Given the description of an element on the screen output the (x, y) to click on. 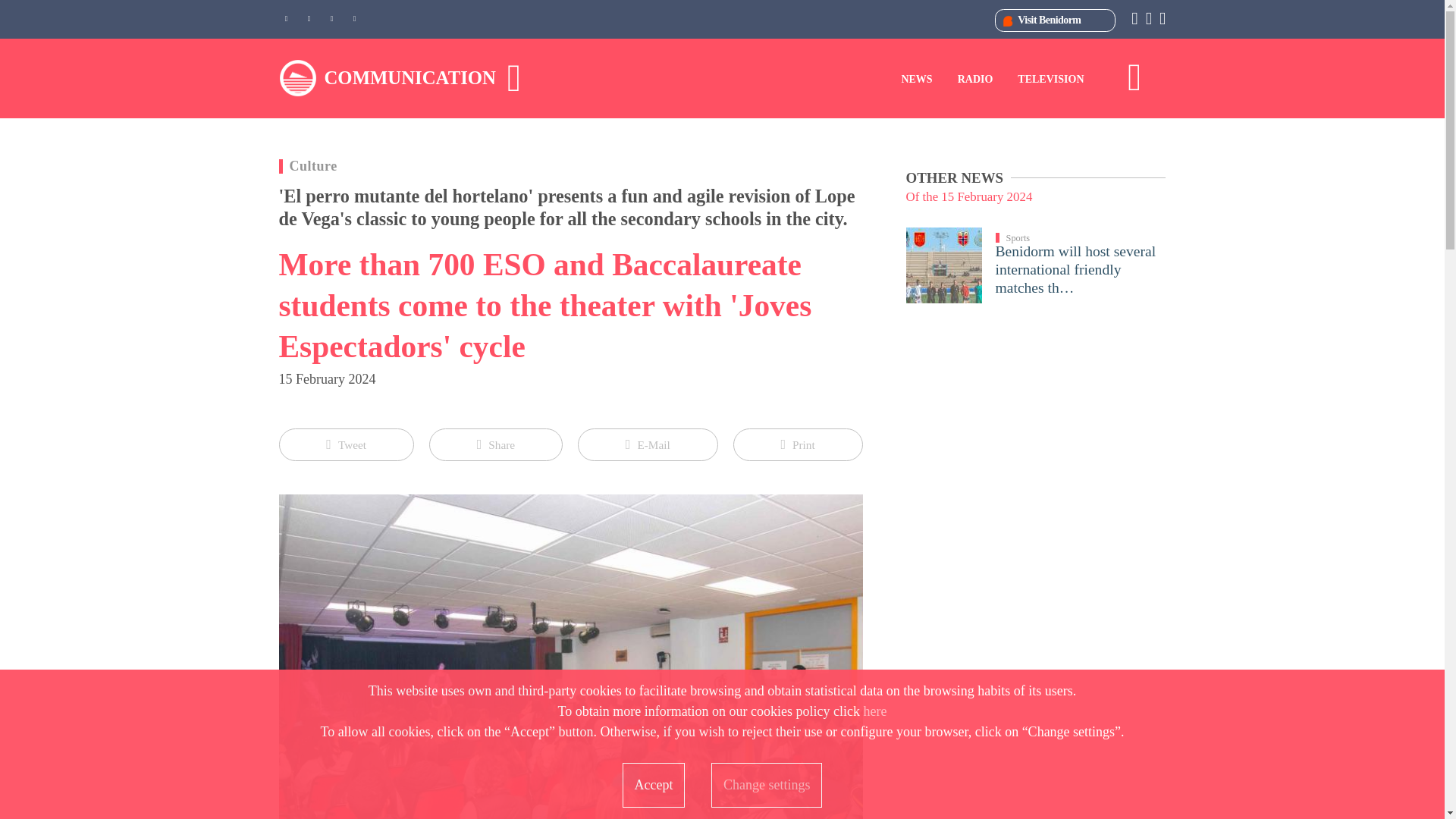
TELEVISION (1050, 78)
print (798, 444)
COMMUNICATION (410, 77)
NEWS (916, 78)
Share on Facebook (495, 444)
RADIO (975, 78)
Benidorm Turismo (1046, 19)
Home (298, 77)
Visit Benidorm (1046, 19)
Share on Twitter (346, 444)
Home (410, 77)
Send by email (647, 444)
